Given the description of an element on the screen output the (x, y) to click on. 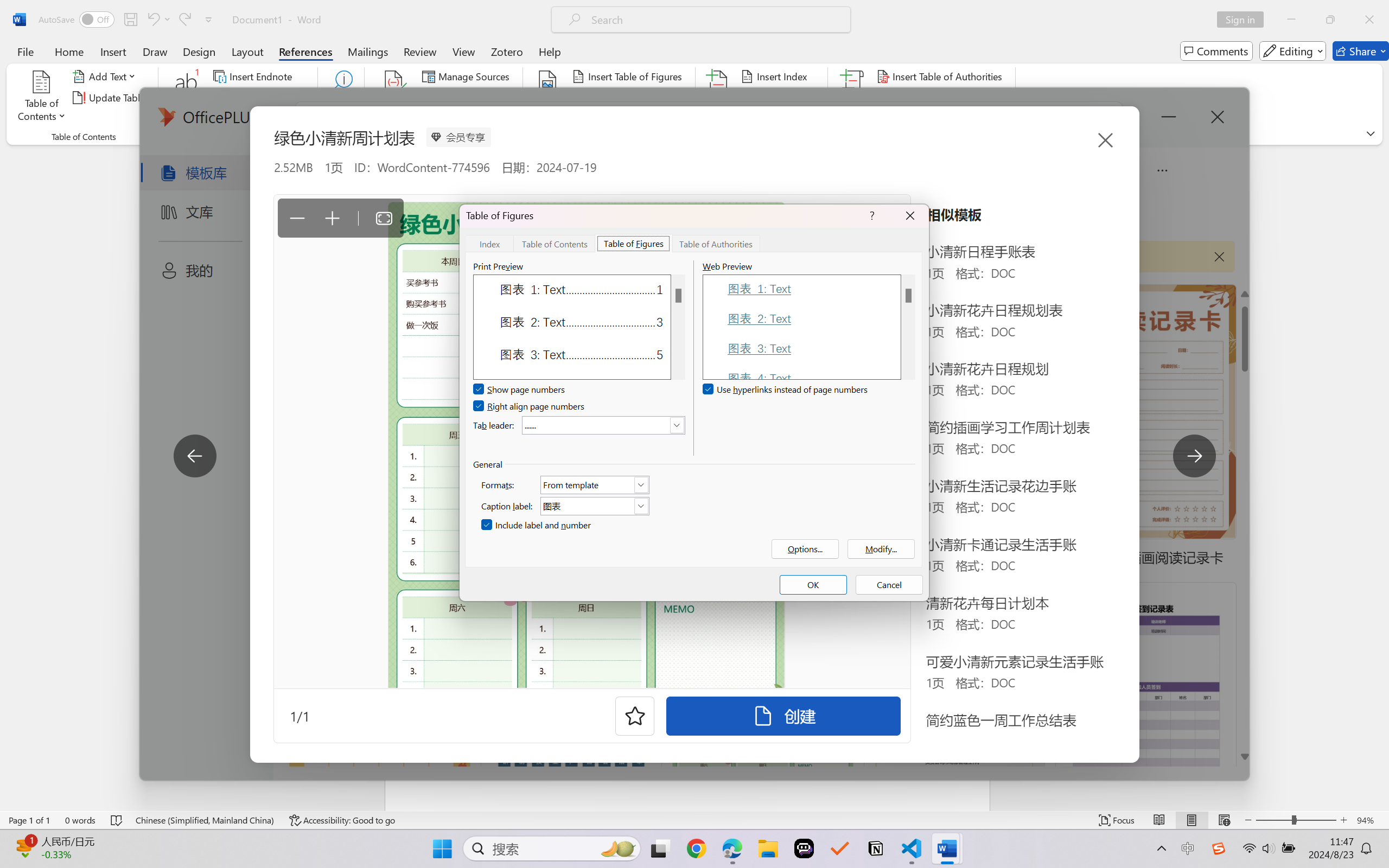
Options... (804, 548)
Language Chinese (Simplified, Mainland China) (205, 819)
Cross-reference... (615, 118)
AutomationID: 44 (677, 327)
